Given the description of an element on the screen output the (x, y) to click on. 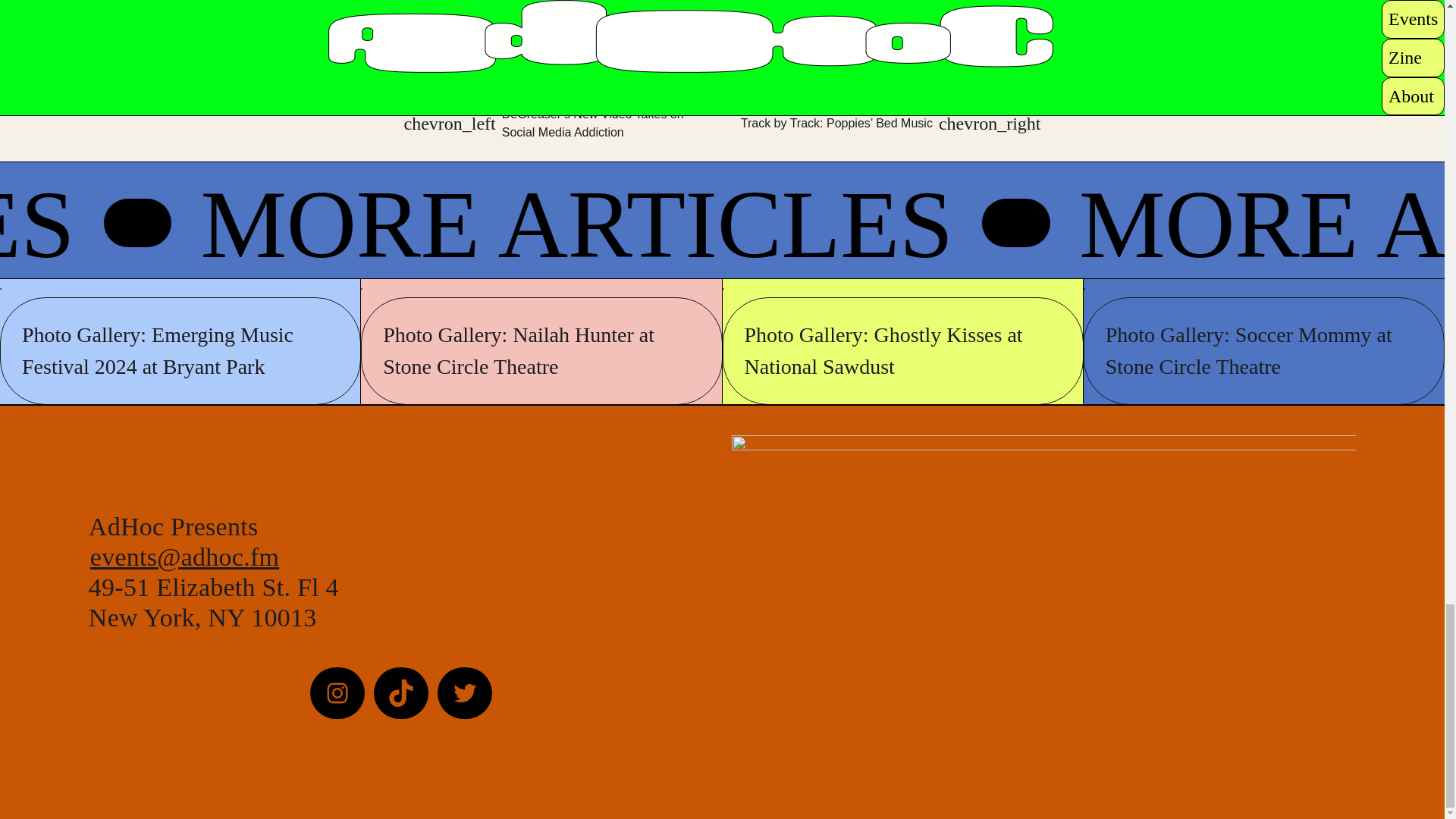
Miya Folick (566, 76)
interview (475, 76)
Kings (517, 76)
Photo Gallery: Emerging Music Festival 2024 at Bryant Park (180, 350)
Premonitions (628, 76)
